Given the description of an element on the screen output the (x, y) to click on. 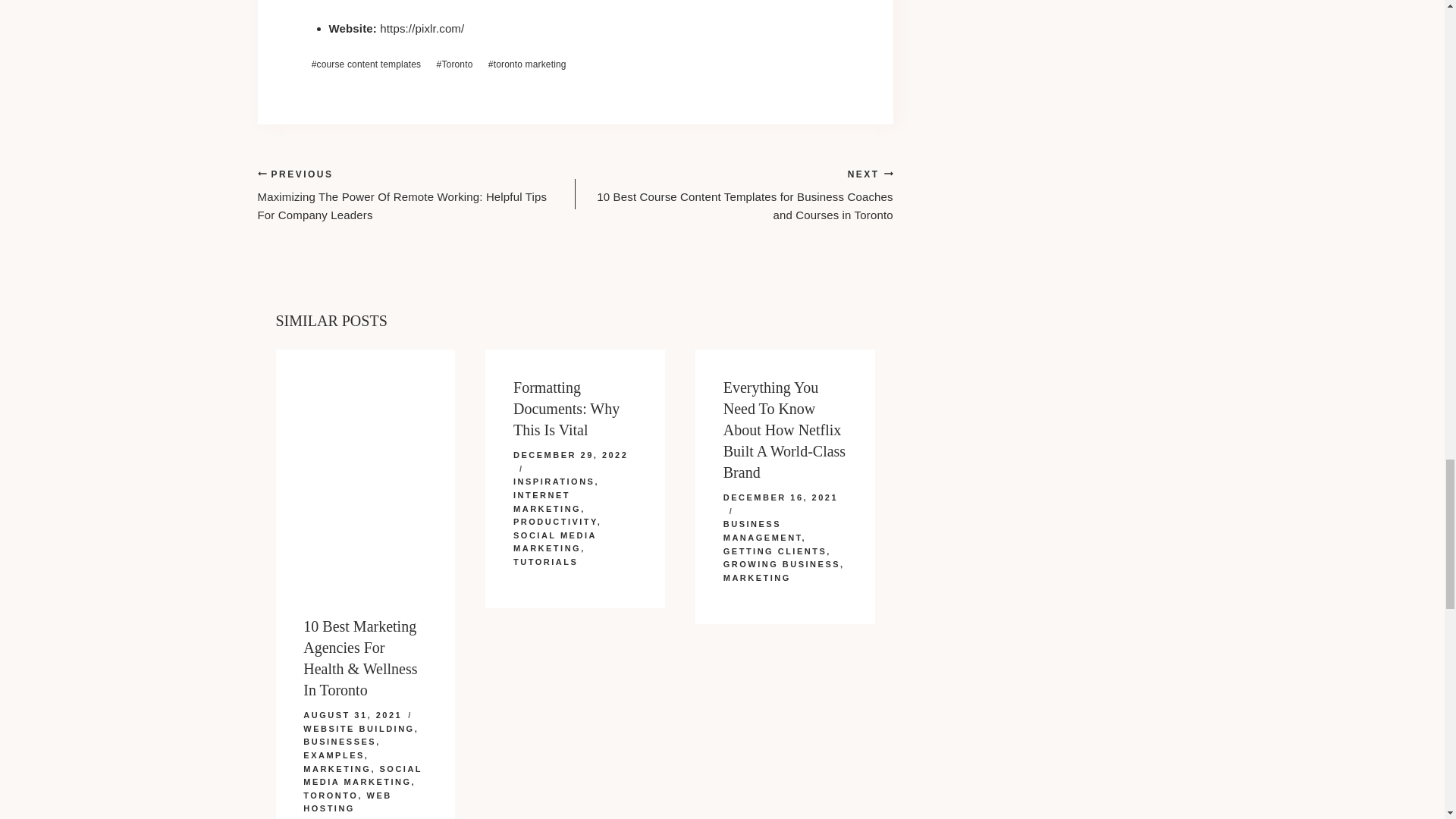
WEBSITE BUILDING (357, 728)
Toronto (453, 65)
toronto marketing (527, 65)
course content templates (365, 65)
